Given the description of an element on the screen output the (x, y) to click on. 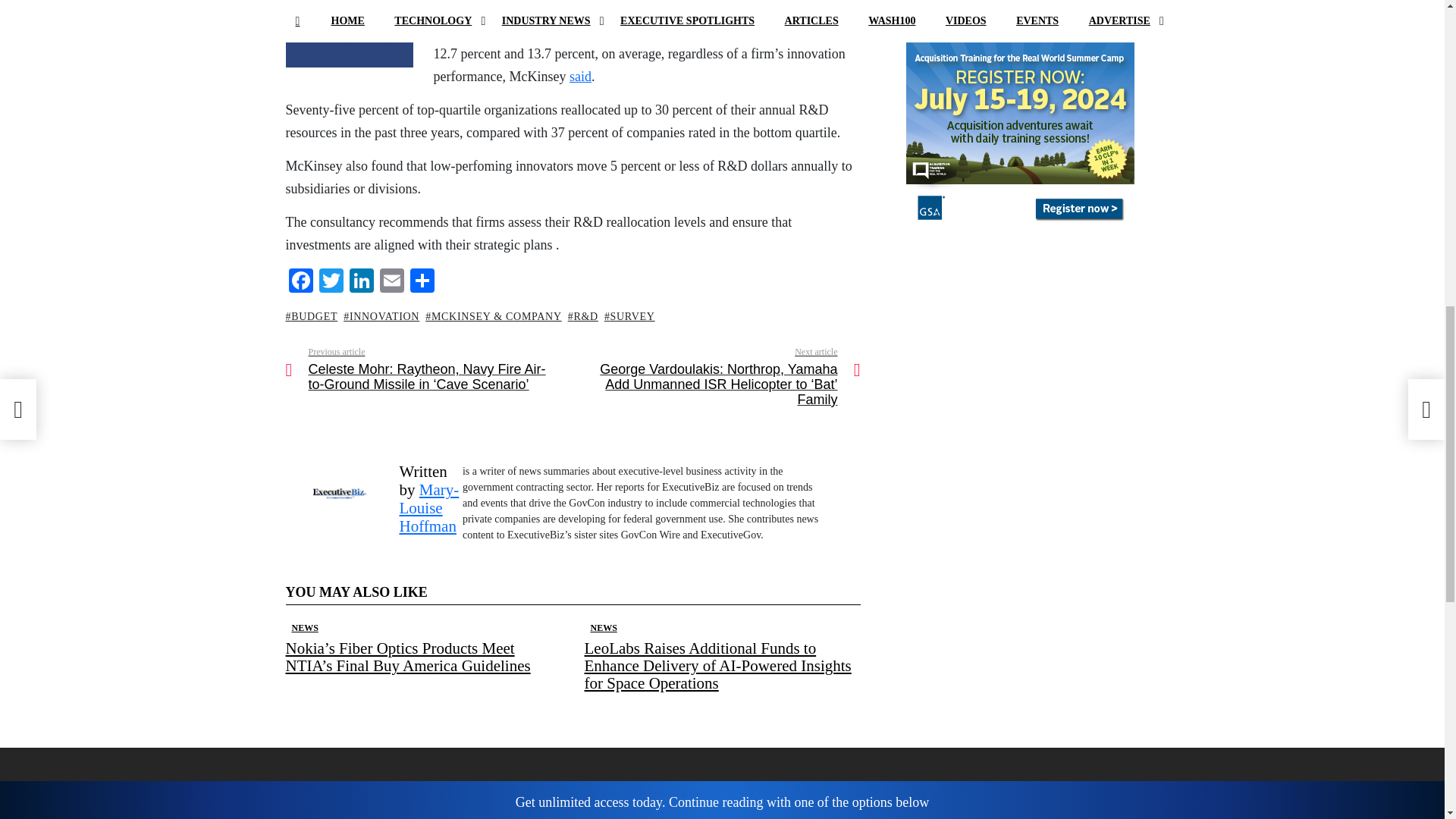
Twitter (330, 282)
LinkedIn (360, 282)
Email (390, 282)
Facebook (300, 282)
